Given the description of an element on the screen output the (x, y) to click on. 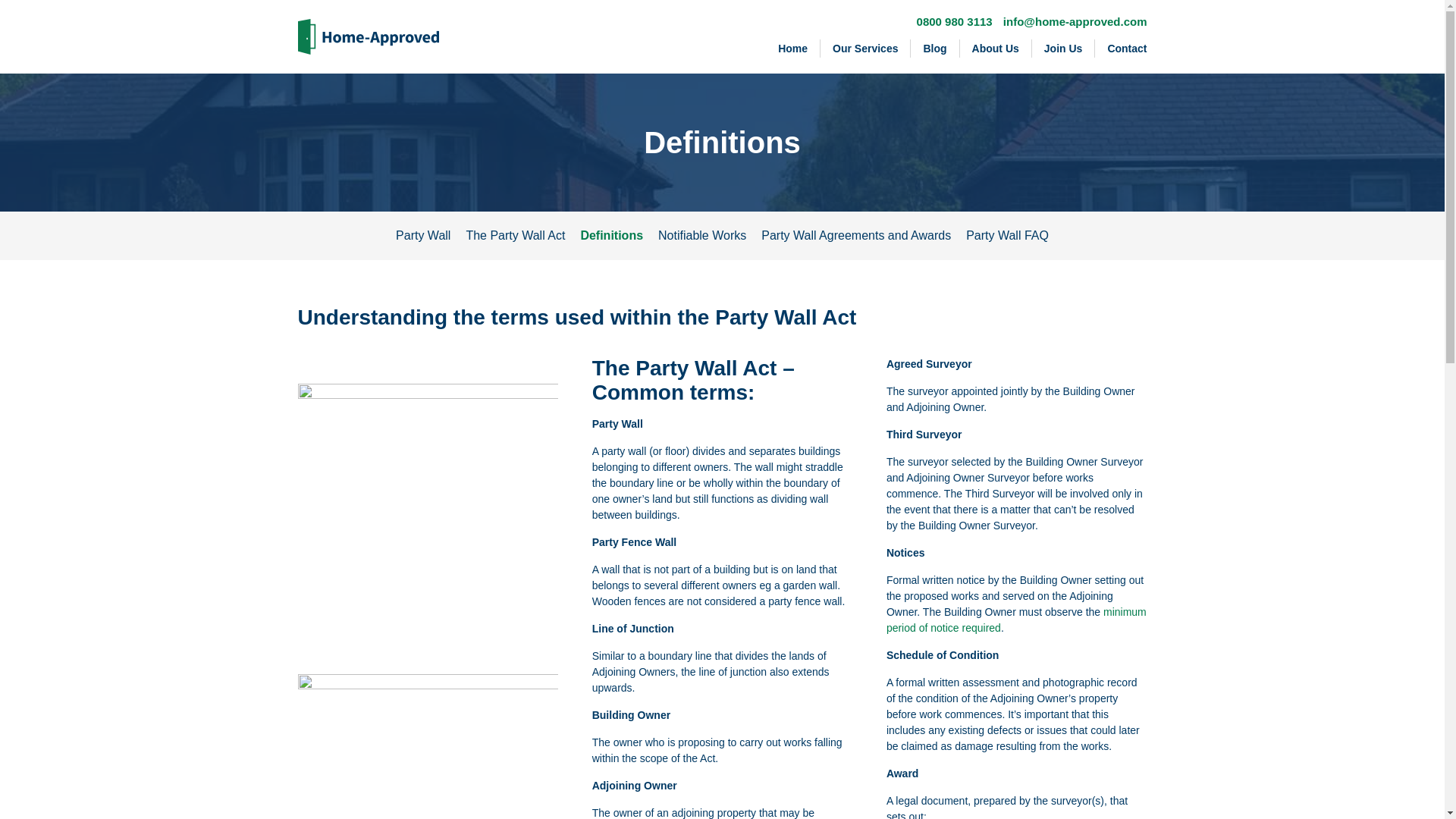
minimum period of notice required (1016, 619)
Join Us (1064, 48)
Blog (935, 48)
Our Services (866, 48)
Party Wall Agreements and Awards (855, 235)
Party Wall FAQ (1007, 235)
Home (793, 48)
Party Wall (422, 235)
Notifiable Works (701, 235)
Definitions (611, 235)
